Given the description of an element on the screen output the (x, y) to click on. 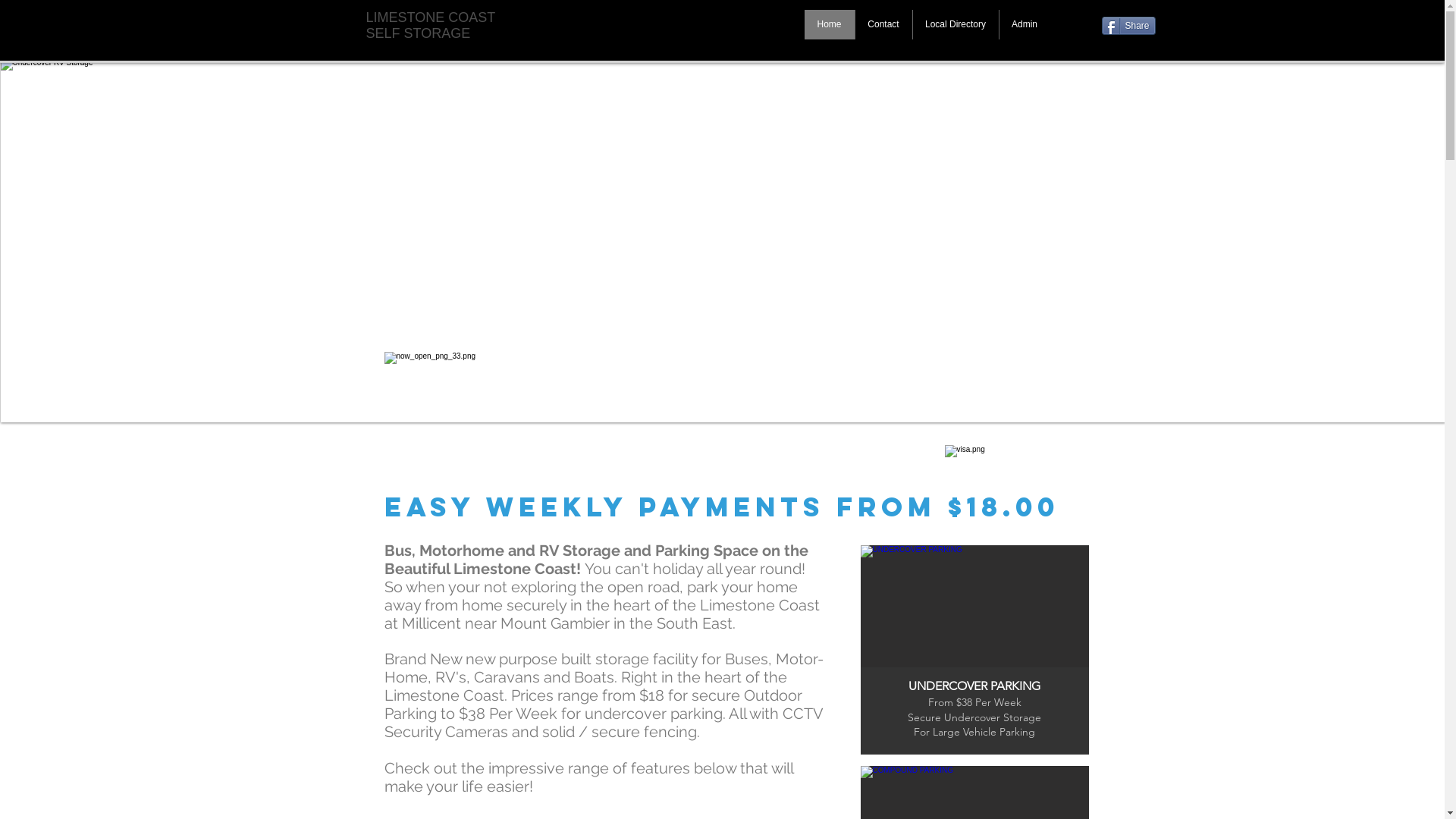
Local Directory Element type: text (954, 24)
Share Element type: text (1127, 25)
Admin Element type: text (1023, 24)
Home Element type: text (828, 24)
Contact Element type: text (882, 24)
